Given the description of an element on the screen output the (x, y) to click on. 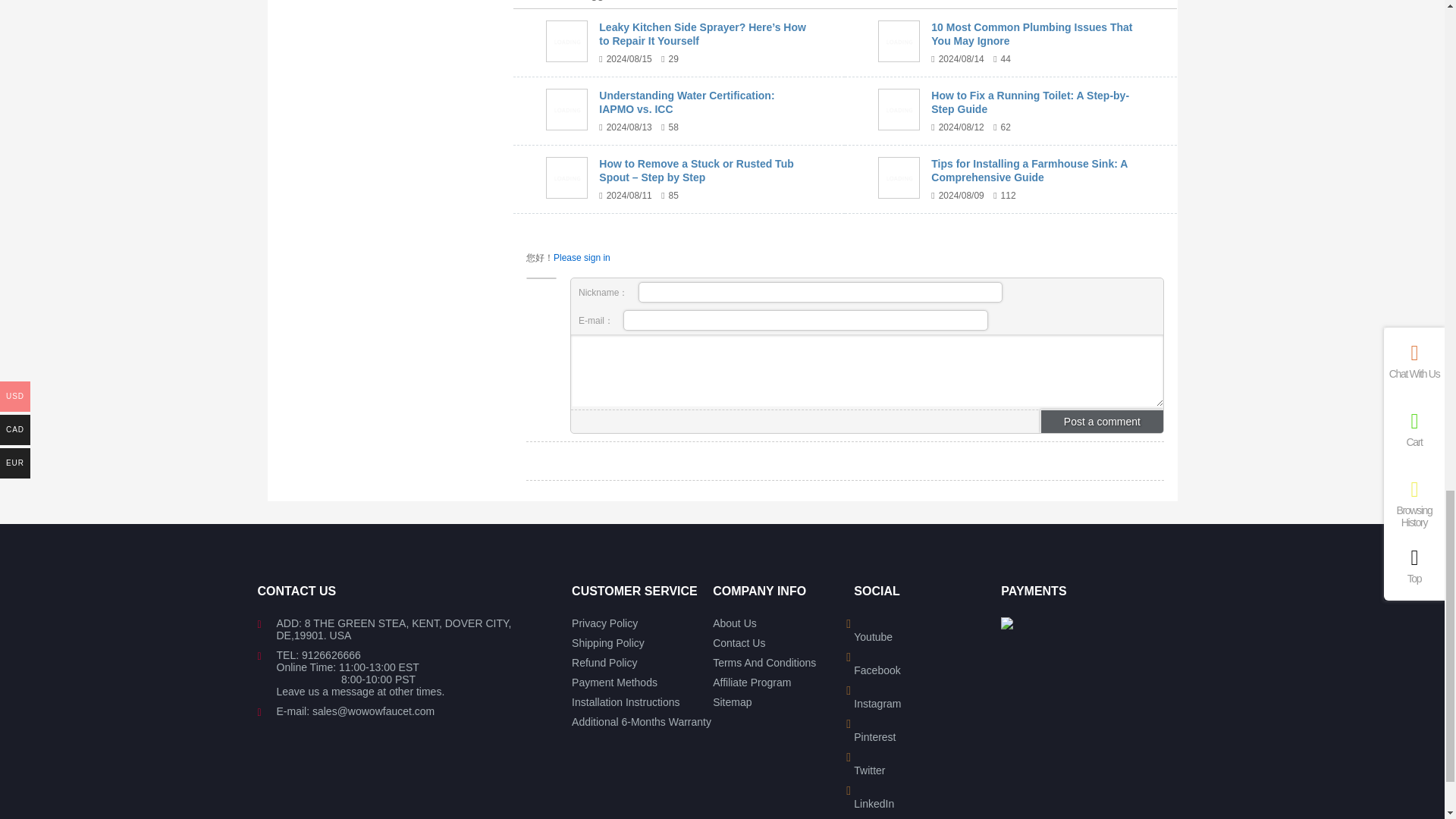
Post a comment (1102, 421)
Add emoticons (584, 422)
How to Fix a Running Toilet: A Step-by-Step Guide (899, 109)
Understanding Water Certification: IAPMO vs. ICC (567, 109)
10 Most Common Plumbing Issues That You May Ignore (899, 41)
Tips for Installing a Farmhouse Sink: A Comprehensive Guide (899, 177)
